Given the description of an element on the screen output the (x, y) to click on. 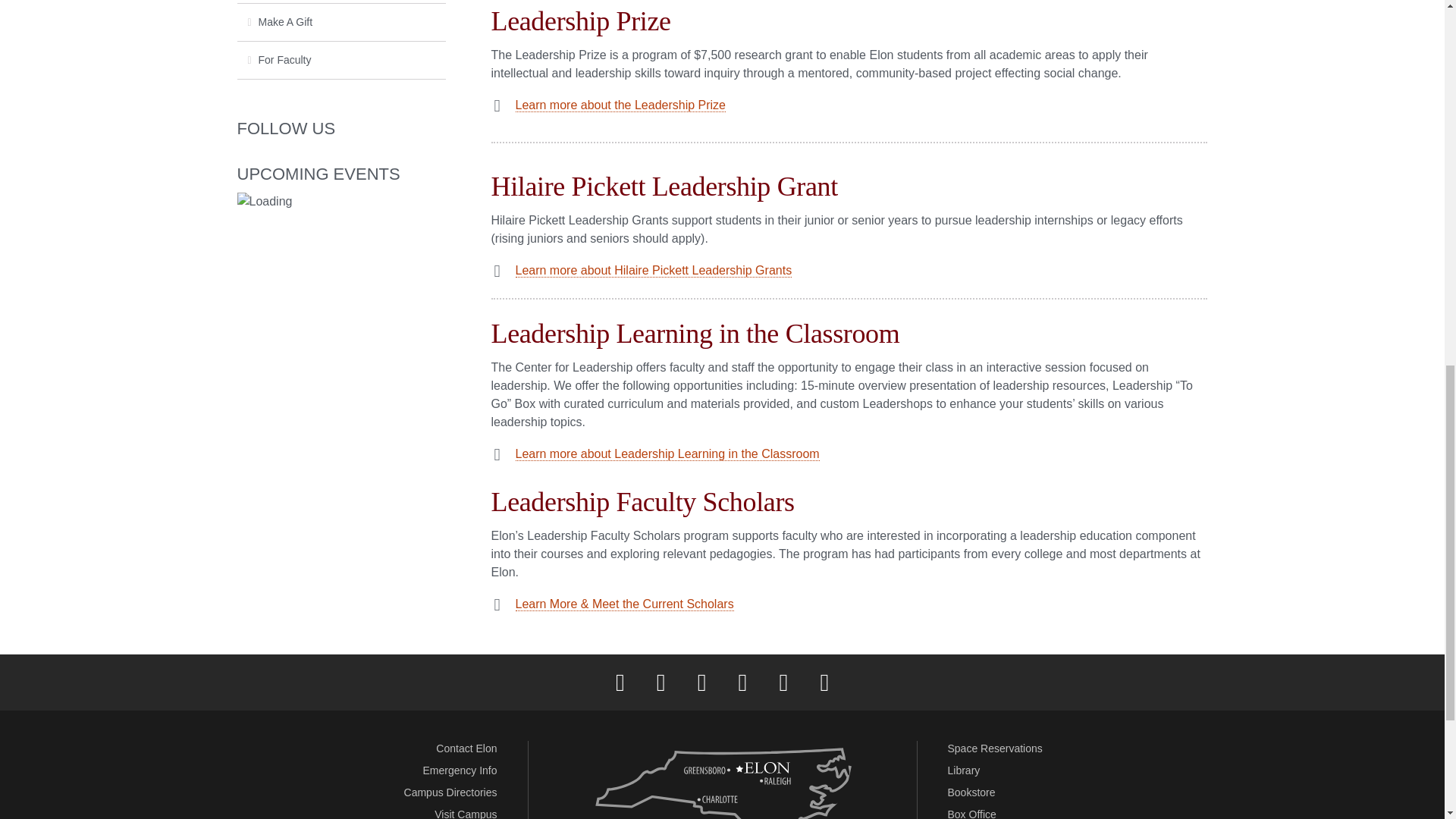
Instagram (701, 682)
Full Social Media List (824, 682)
Learn more about Hilaire Pickett Leadership Grants (653, 270)
Learn more about Leadership Learning in the Classroom (667, 454)
Facebook (620, 682)
YouTube (783, 682)
Learn more about the Leadership Prize (620, 105)
LinkedIn (742, 682)
